Given the description of an element on the screen output the (x, y) to click on. 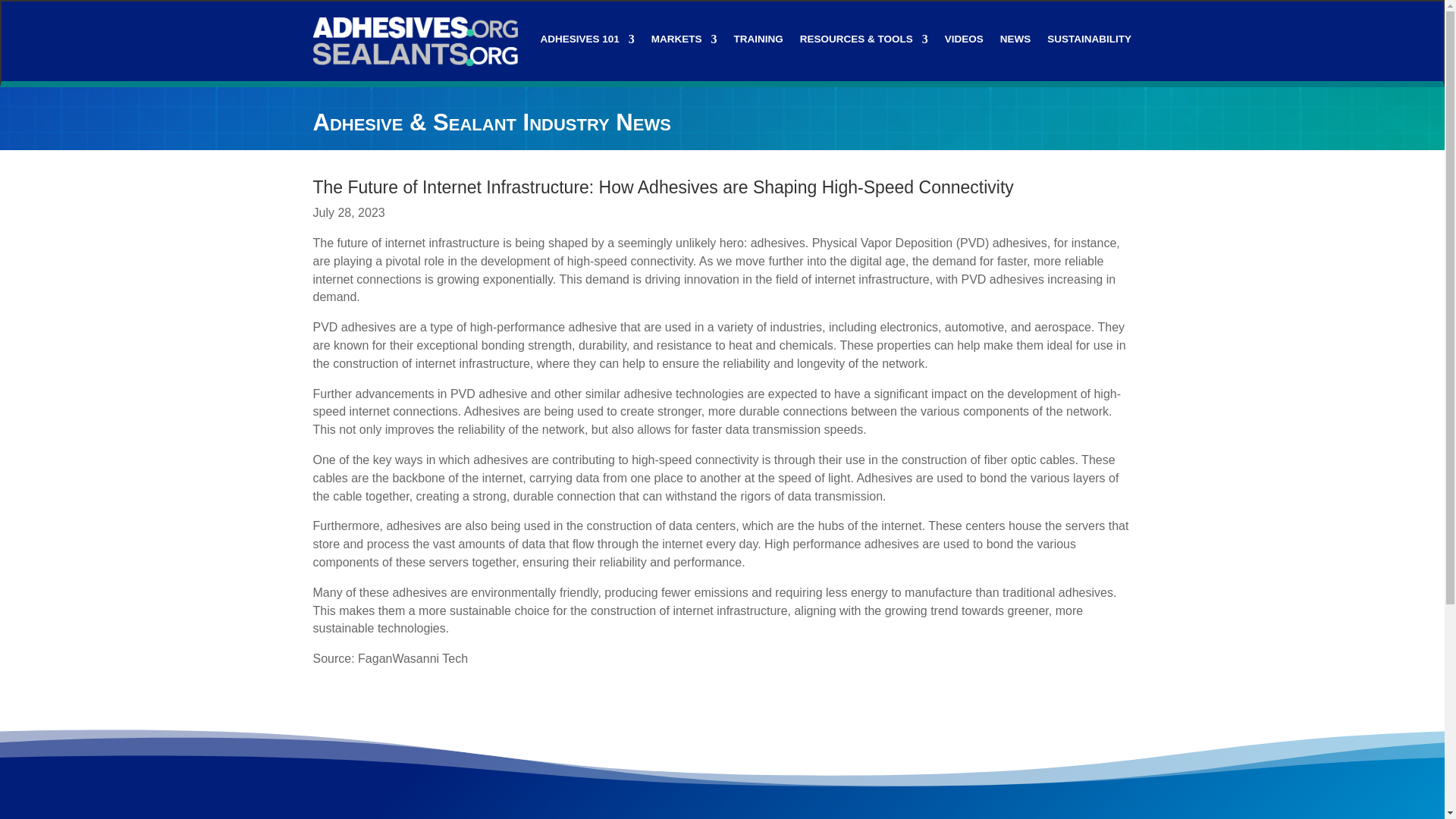
MARKETS (683, 42)
ADHESIVES 101 (586, 42)
Adhesives.org-New-Web-Logo-newcrop (414, 41)
